Given the description of an element on the screen output the (x, y) to click on. 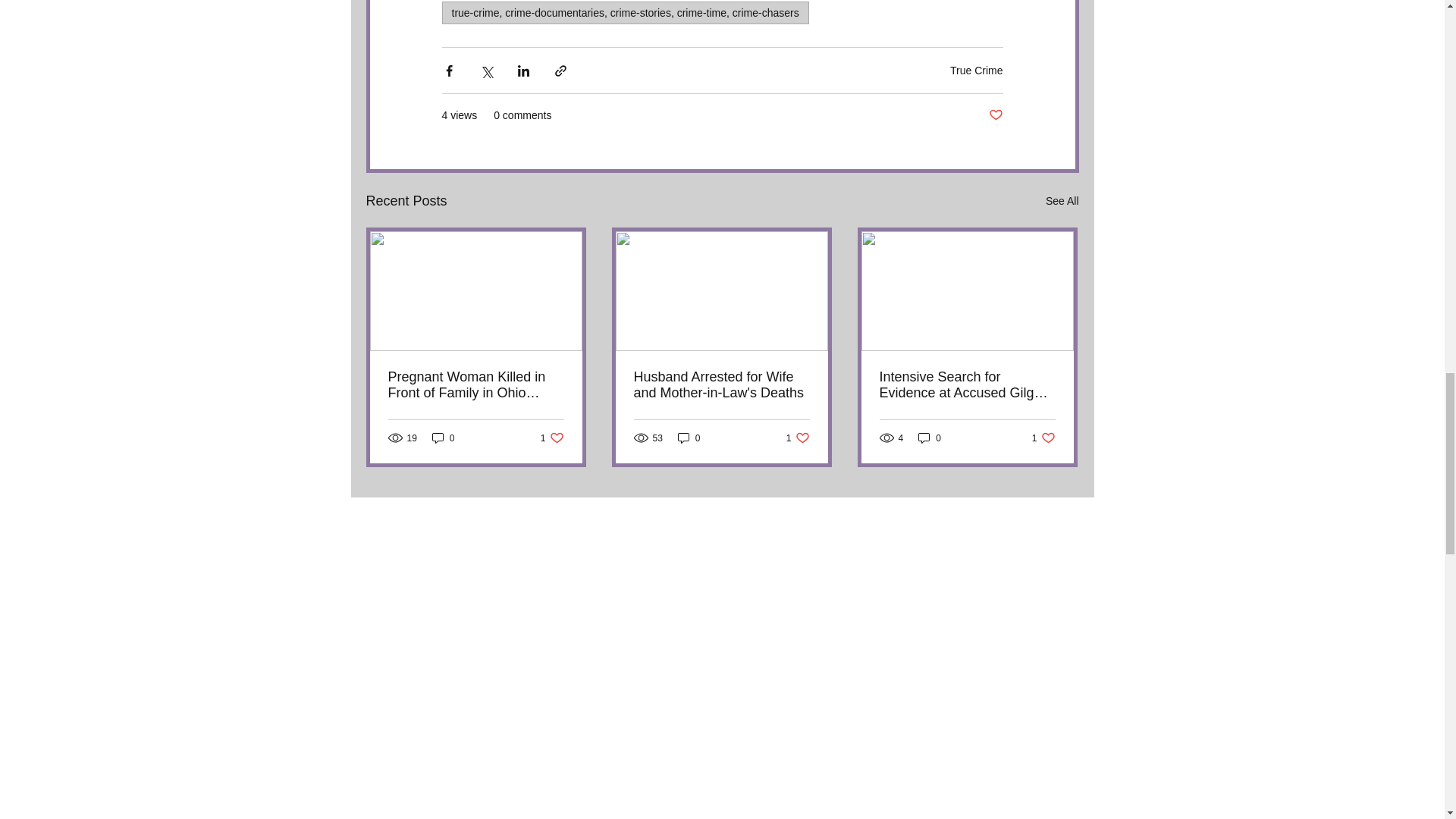
Husband Arrested for Wife and Mother-in-Law's Deaths (552, 437)
True Crime (721, 384)
0 (976, 69)
See All (443, 437)
Post not marked as liked (1061, 201)
